Given the description of an element on the screen output the (x, y) to click on. 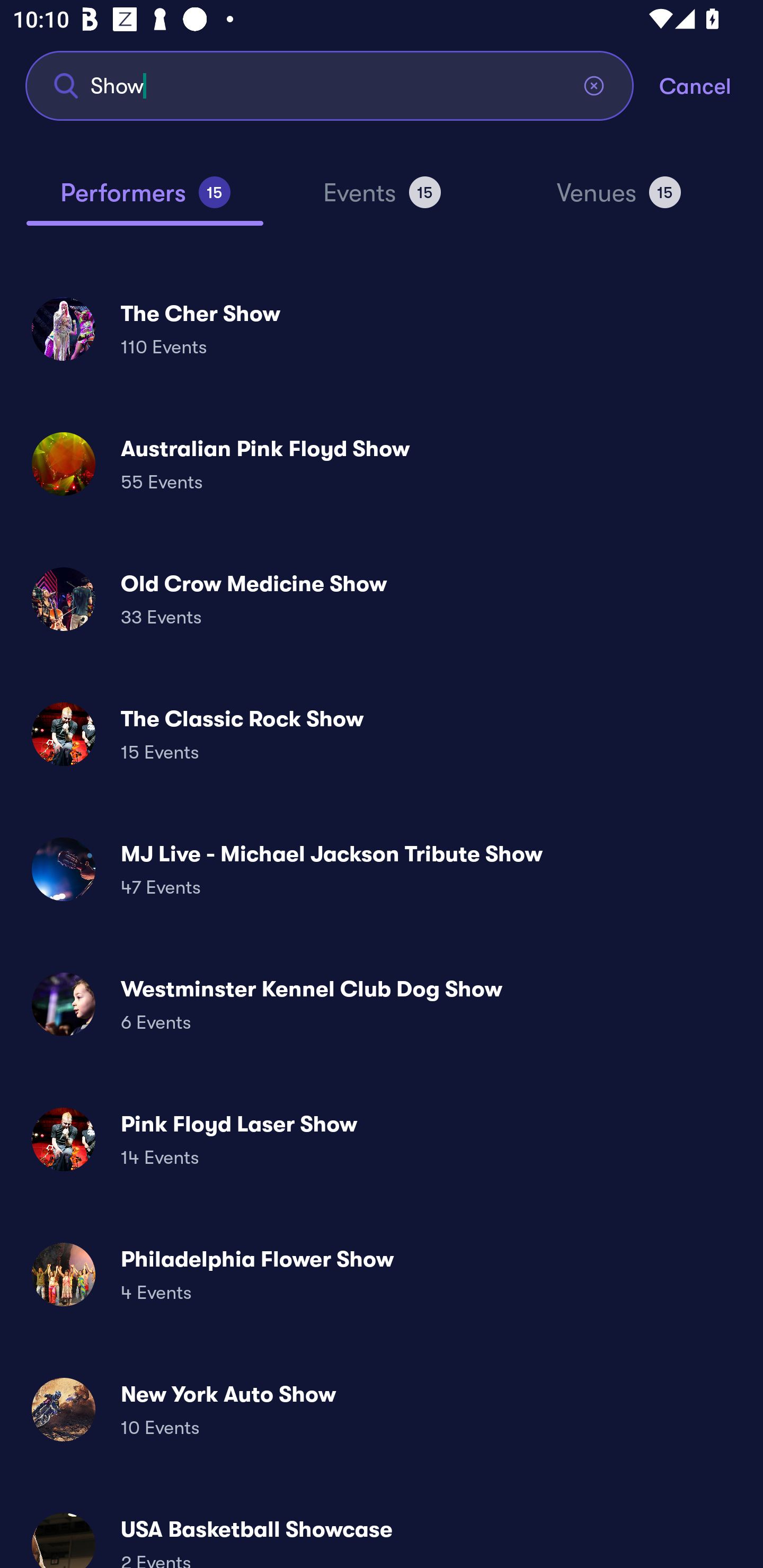
Cancel (711, 85)
Show Find (329, 85)
Show Find (329, 85)
Performers 15 (144, 200)
Events 15 (381, 200)
Venues 15 (618, 200)
The Cher Show 110 Events (381, 328)
Australian Pink Floyd Show 55 Events (381, 464)
Old Crow Medicine Show 33 Events (381, 598)
The Classic Rock Show 15 Events (381, 734)
MJ Live - Michael Jackson Tribute Show 47 Events (381, 869)
Westminster Kennel Club Dog Show 6 Events (381, 1004)
Pink Floyd Laser Show 14 Events (381, 1138)
Philadelphia Flower Show 4 Events (381, 1273)
New York Auto Show 10 Events (381, 1409)
USA Basketball Showcase 2 Events (381, 1532)
